Given the description of an element on the screen output the (x, y) to click on. 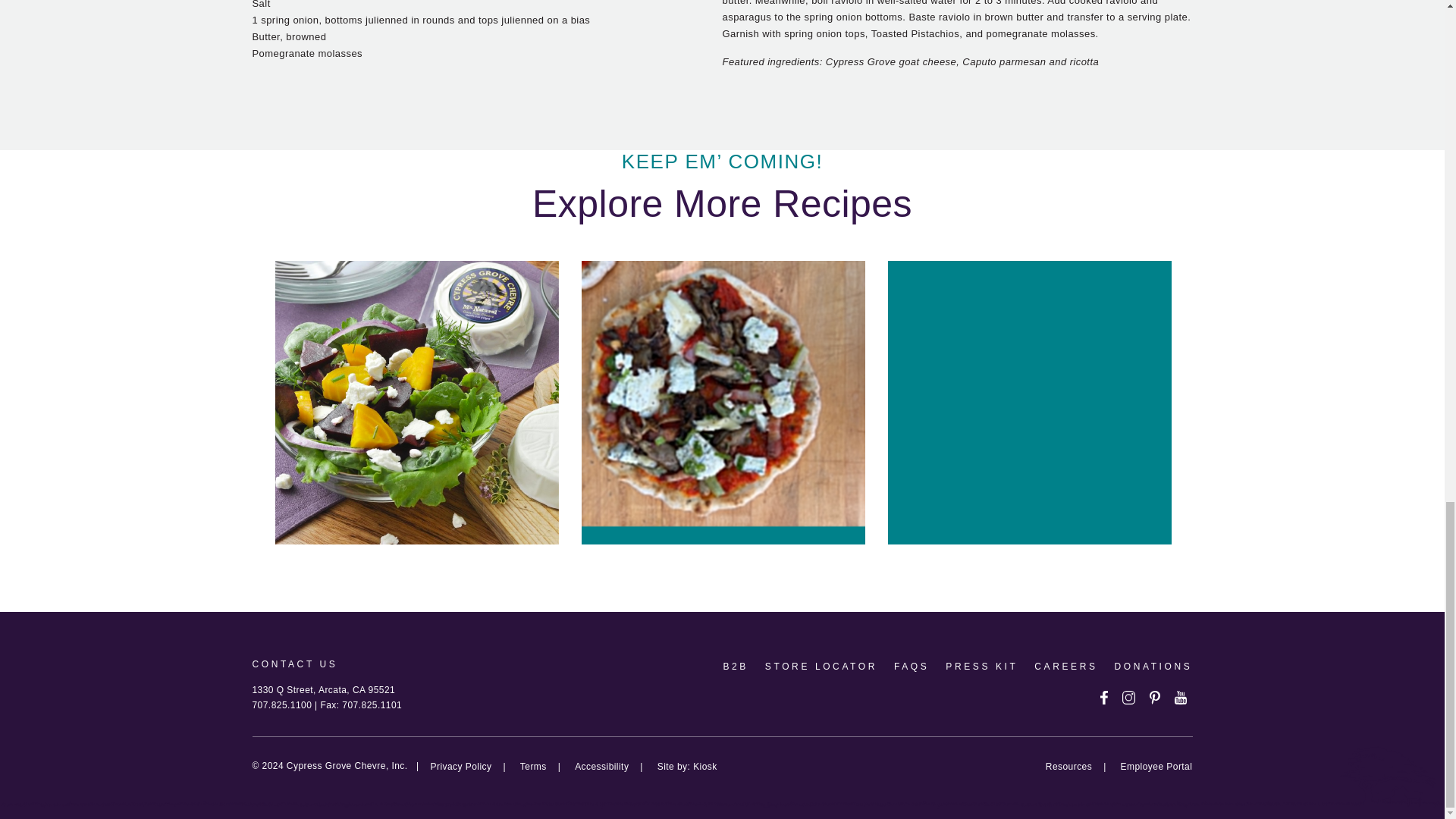
B2B (735, 665)
STORE LOCATOR (821, 665)
CONTACT US (294, 664)
FAQS (910, 665)
